Given the description of an element on the screen output the (x, y) to click on. 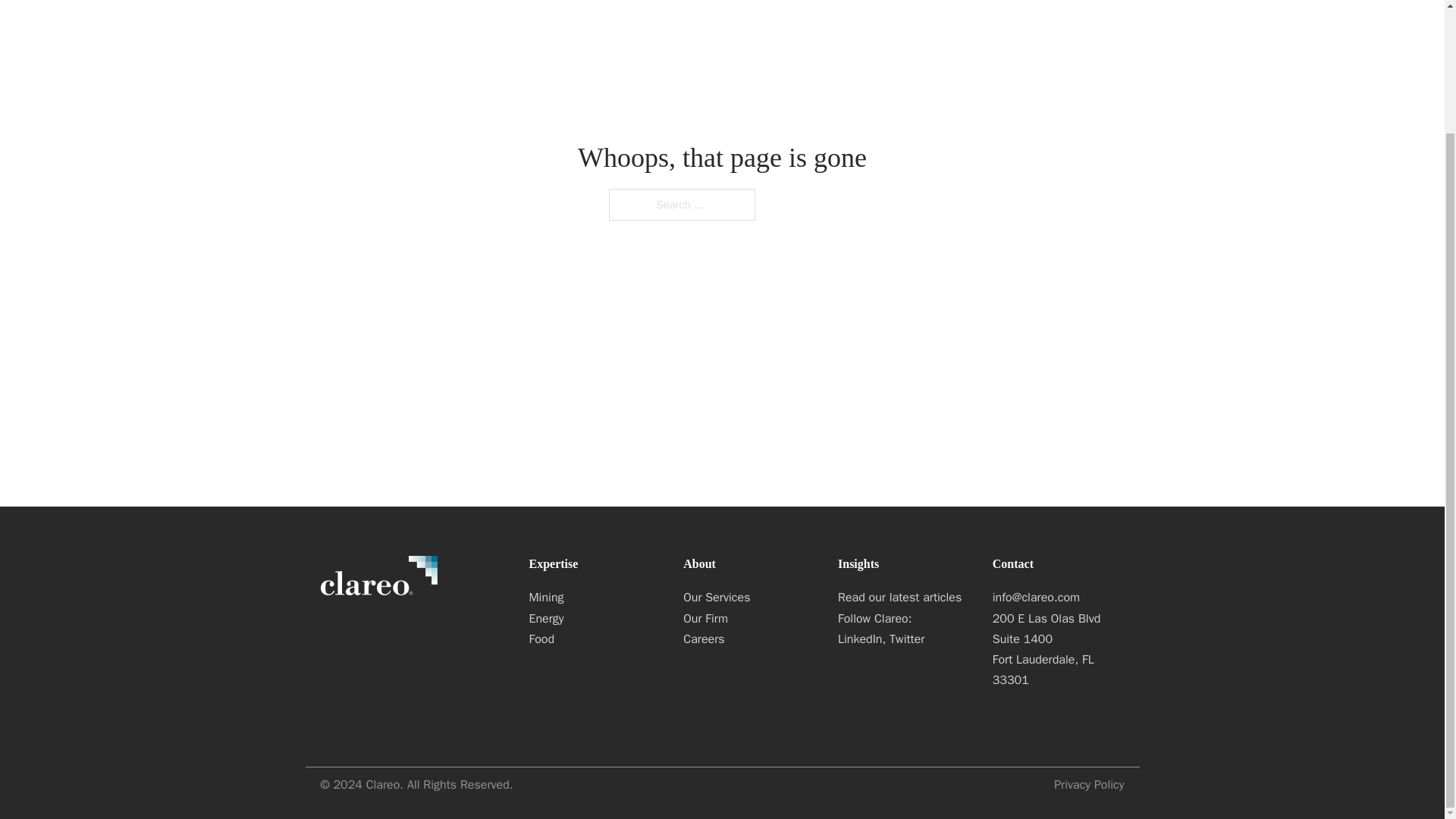
LinkedIn (860, 639)
Our Services (748, 598)
Mining (595, 598)
Twitter (906, 639)
Privacy Policy (1089, 784)
Our Firm (748, 619)
Read our latest articles (903, 598)
Energy (595, 619)
Food (595, 639)
Careers (748, 639)
